Given the description of an element on the screen output the (x, y) to click on. 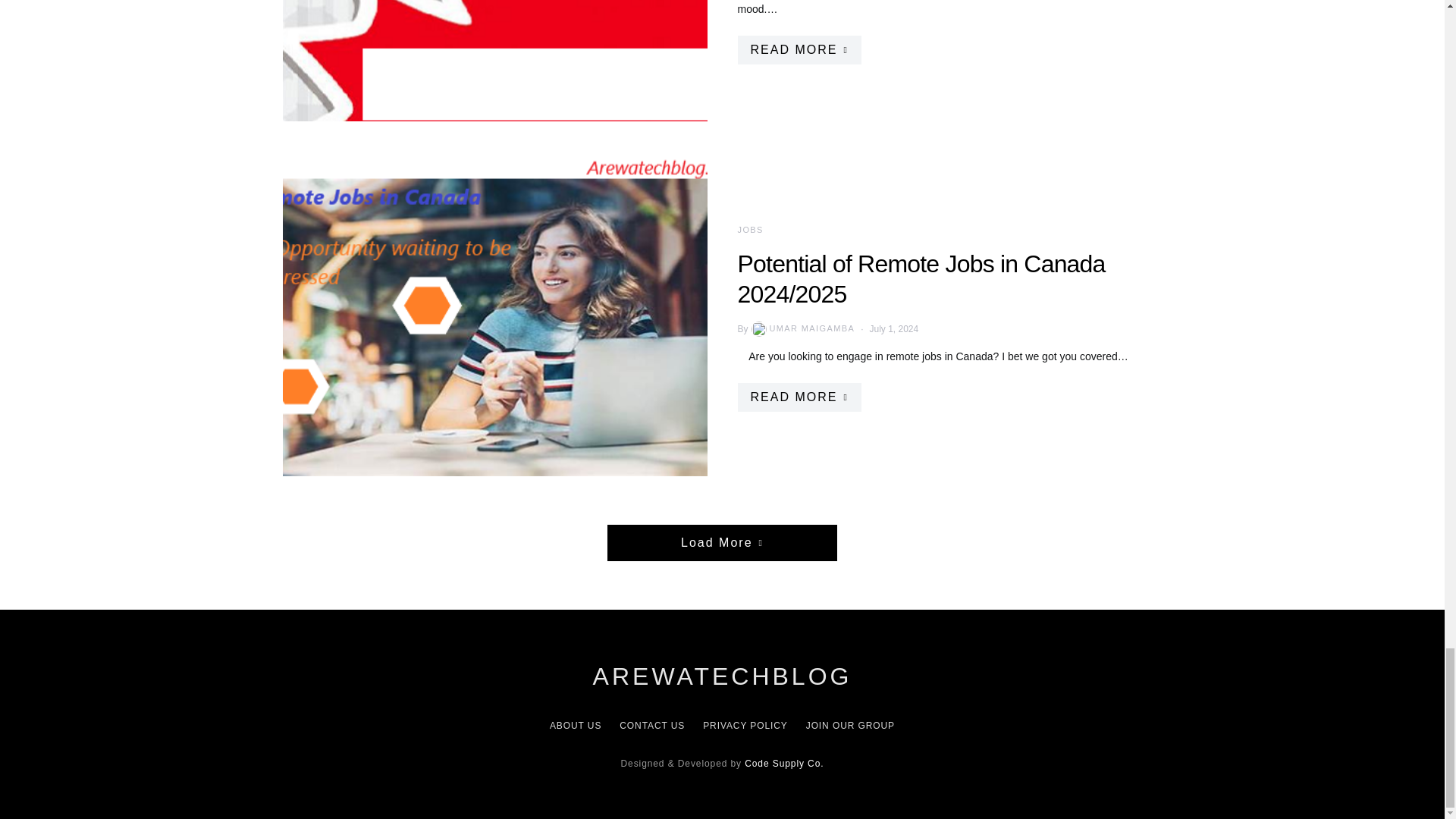
View all posts by Umar Maigamba (802, 328)
